Given the description of an element on the screen output the (x, y) to click on. 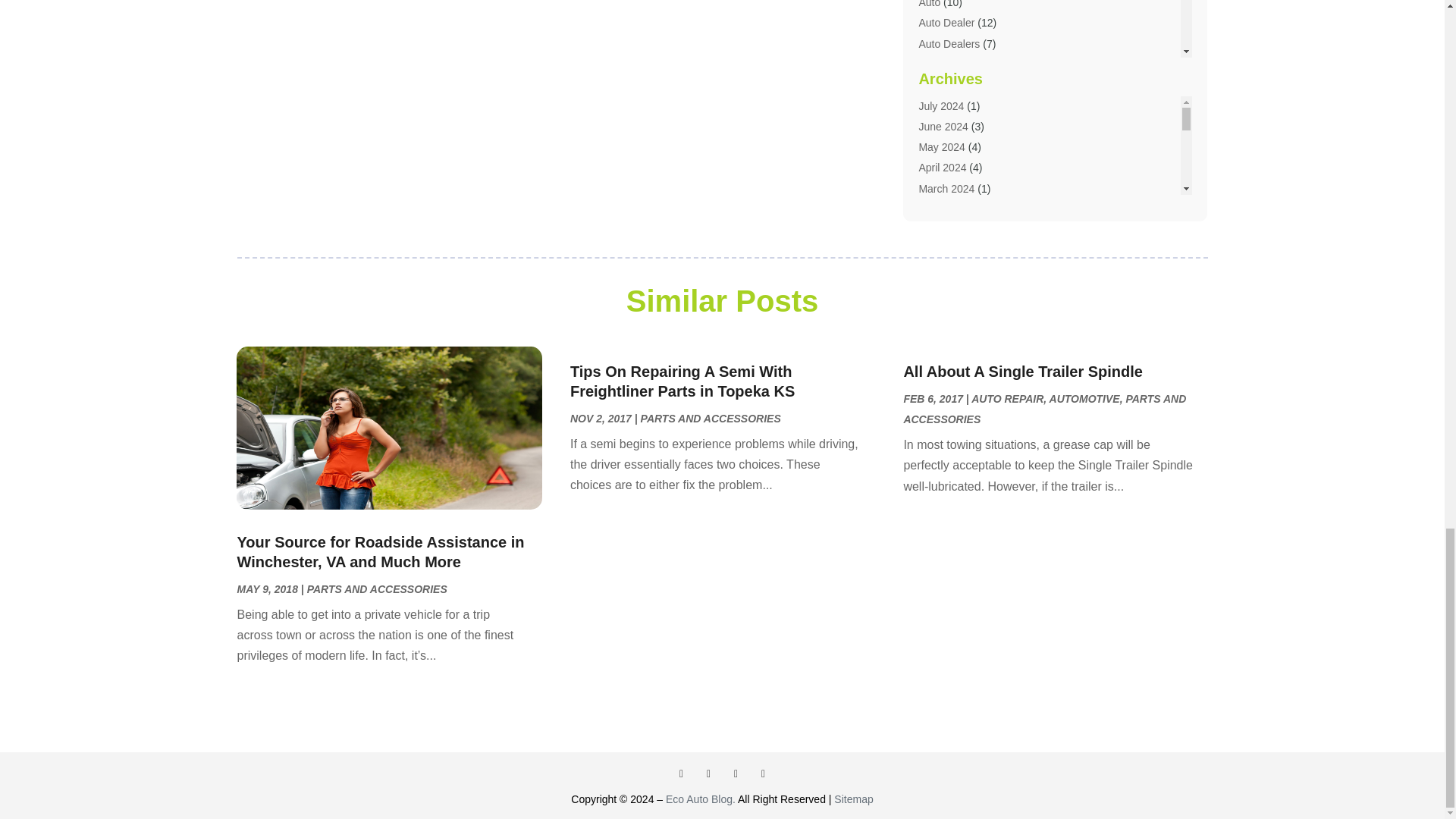
Follow on Facebook (680, 773)
Follow on Youtube (762, 773)
Follow on X (708, 773)
Auto (929, 4)
Auto Dealer (946, 22)
Follow on Instagram (735, 773)
